Given the description of an element on the screen output the (x, y) to click on. 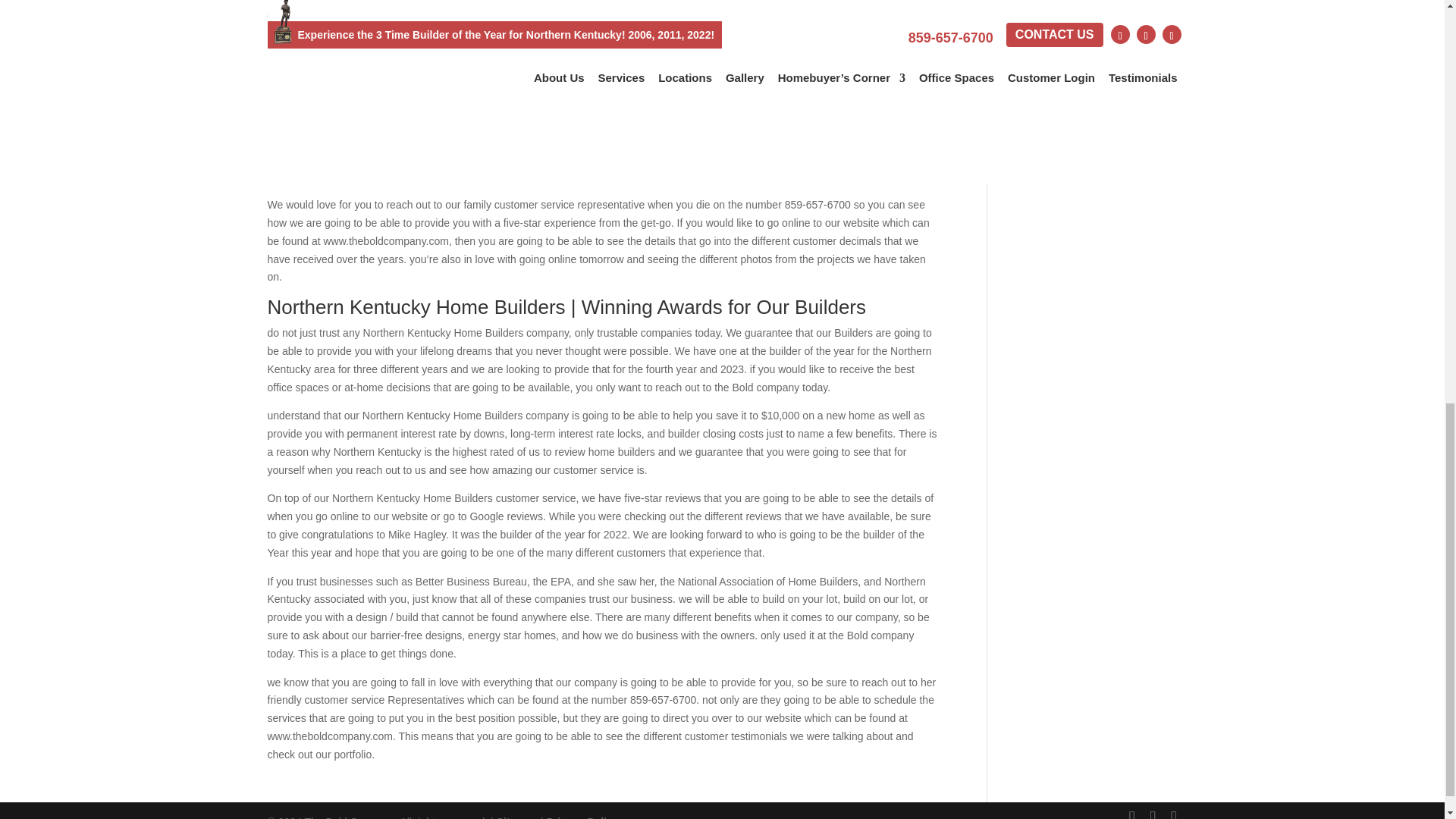
Sitemap (516, 817)
Privacy Policy (582, 817)
